Given the description of an element on the screen output the (x, y) to click on. 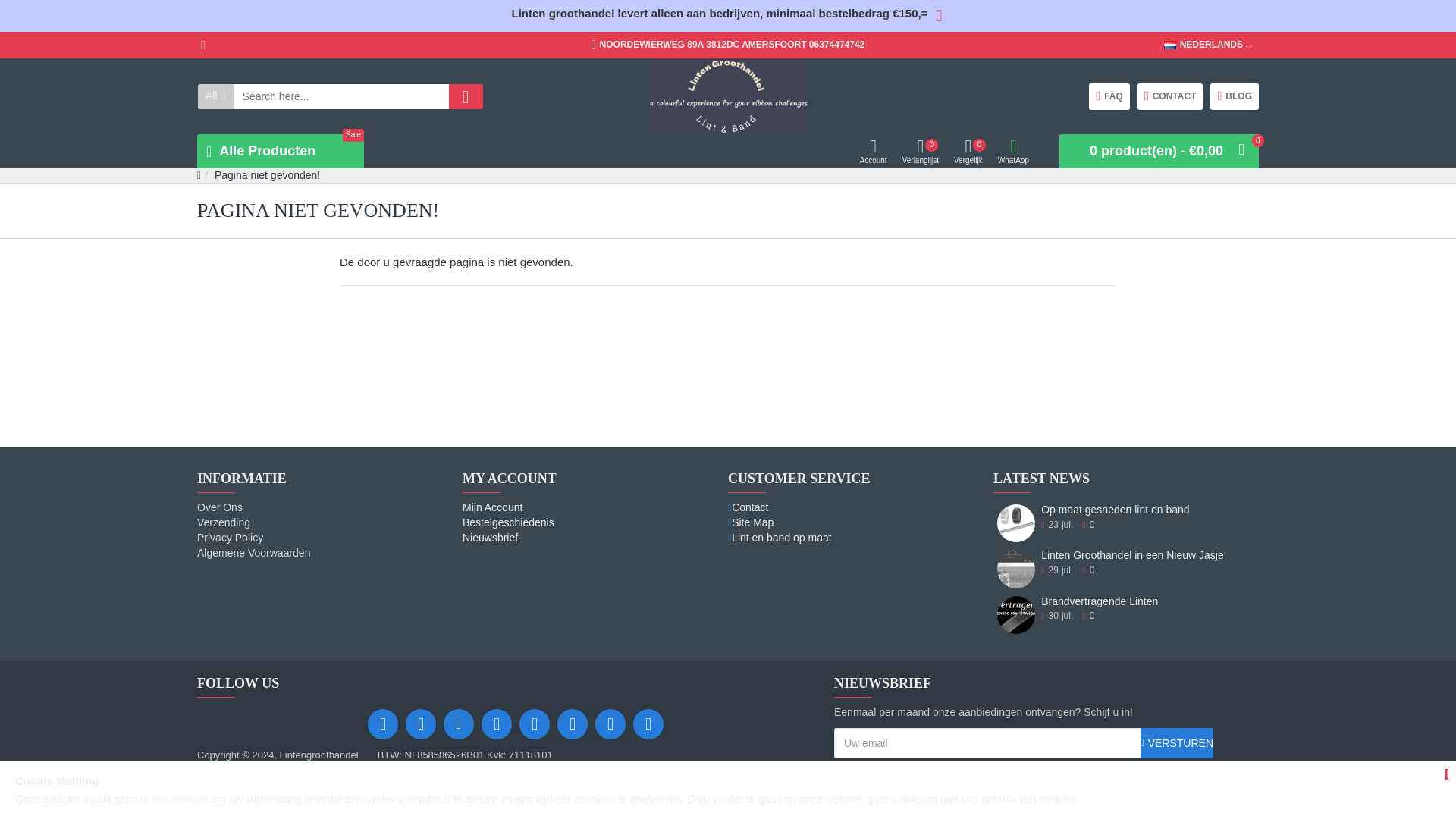
NOORDEWIERWEG 89A 3812DC AMERSFOORT 06374474742 (728, 44)
NEDERLANDS (1203, 44)
Op maat gesneden lint en band (1016, 523)
FAQ (1109, 96)
Linten Groothandel in een Nieuw Jasje (1016, 568)
Lintengroothandel (728, 96)
Nederlands (280, 151)
Brandvertragende Linten (1169, 44)
1 (1016, 614)
CONTACT (839, 768)
BLOG (1170, 96)
